Given the description of an element on the screen output the (x, y) to click on. 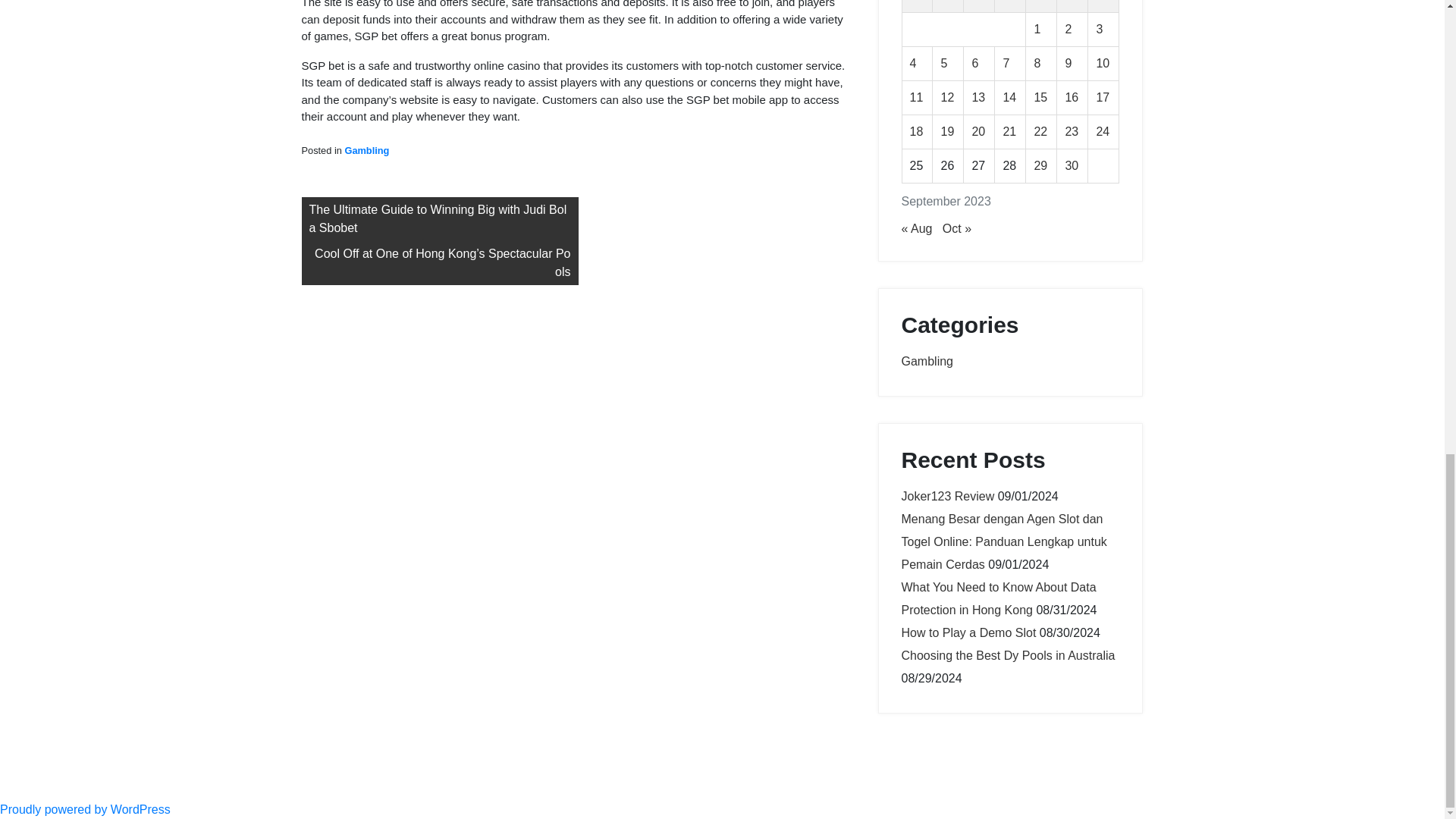
Wednesday (978, 6)
The Ultimate Guide to Winning Big with Judi Bola Sbobet (439, 218)
Tuesday (948, 6)
Monday (917, 6)
10 (1102, 62)
Gambling (365, 150)
Sunday (1103, 6)
Thursday (1010, 6)
Saturday (1072, 6)
Friday (1041, 6)
